Given the description of an element on the screen output the (x, y) to click on. 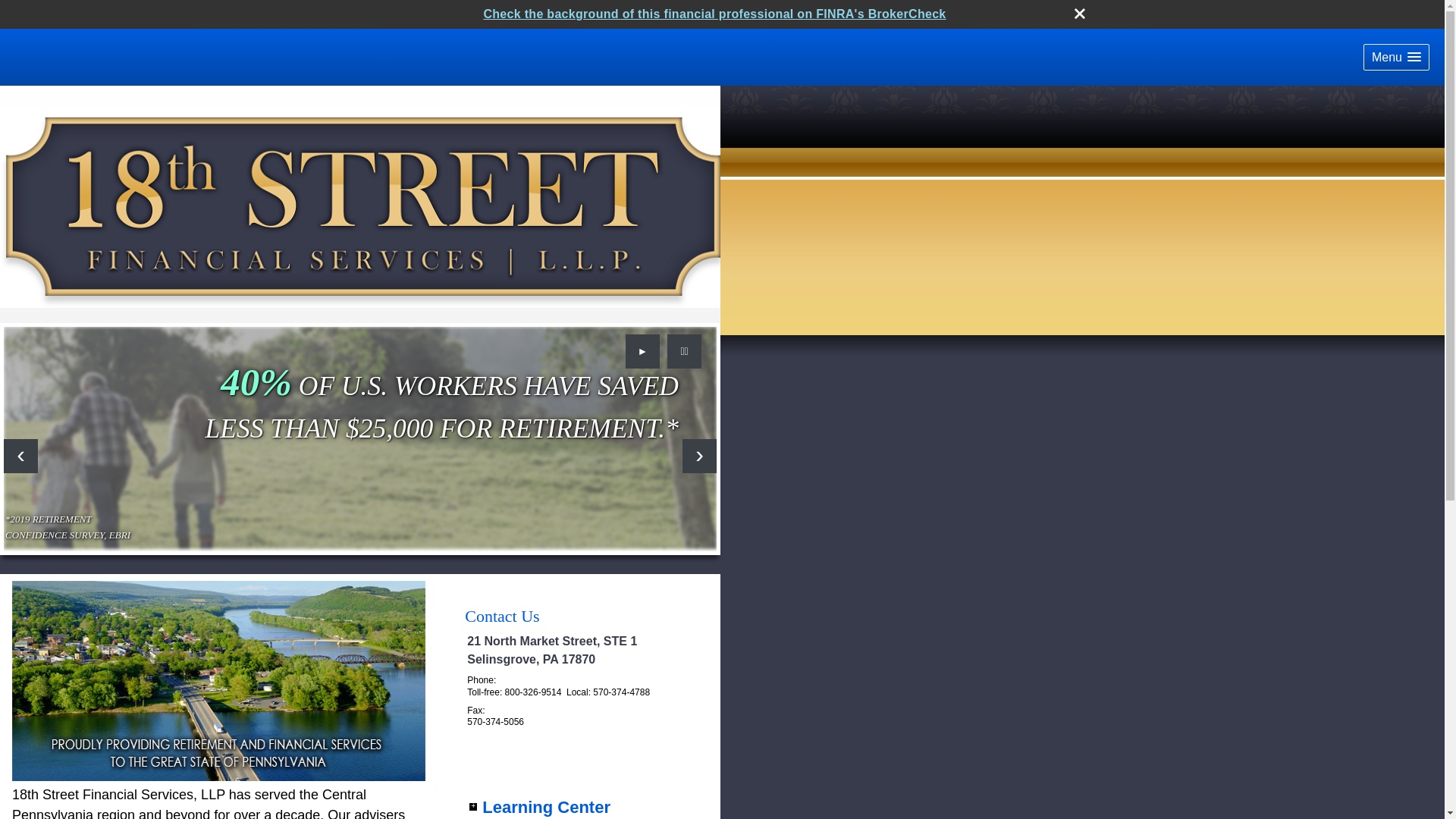
21 North Market Street, STE 1
Selinsgrove, PA 17870 Element type: text (552, 650)
+ Element type: text (472, 806)
Learning Center Element type: text (546, 806)
